Given the description of an element on the screen output the (x, y) to click on. 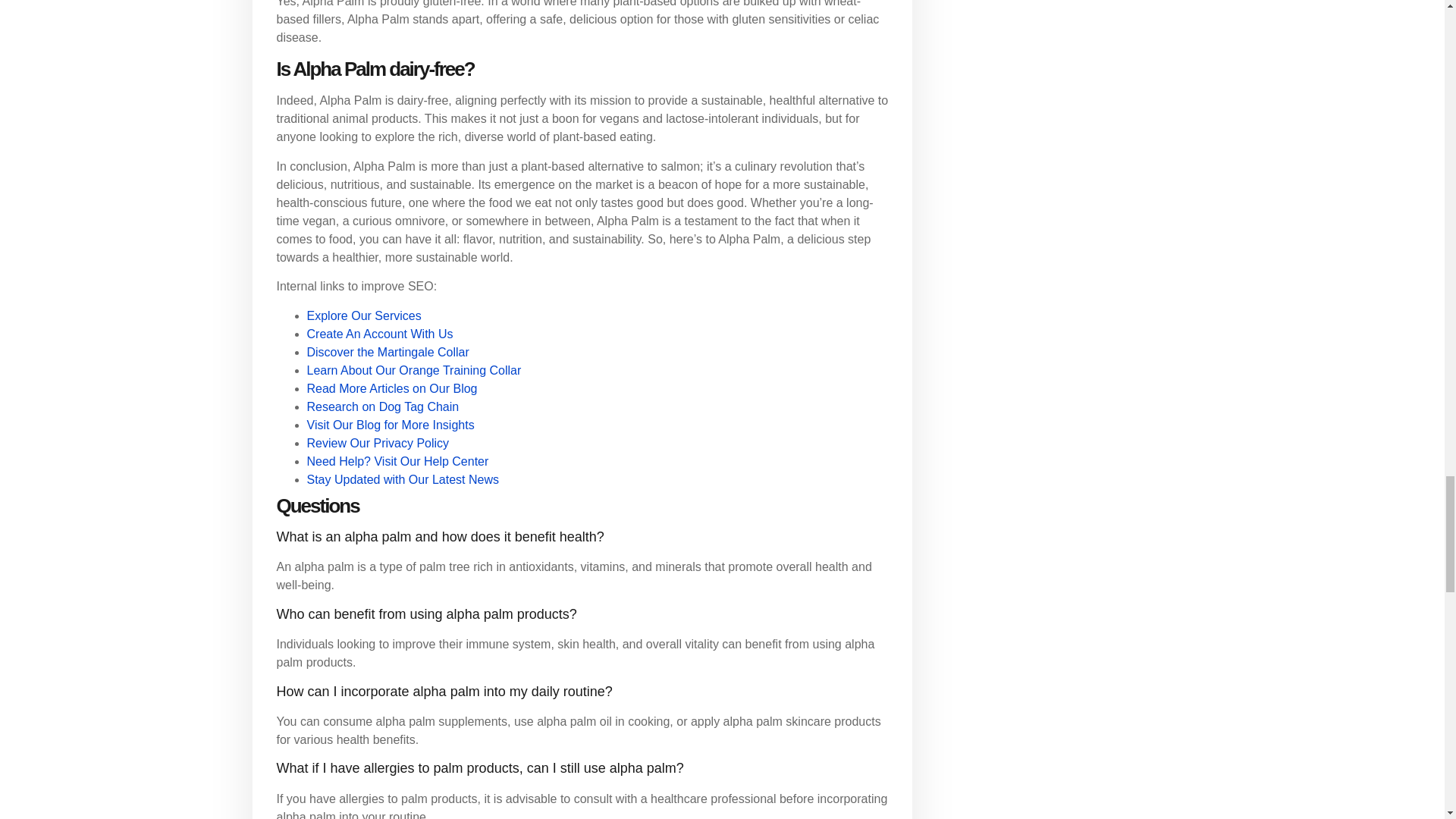
Create An Account With Us (378, 333)
Visit Our Blog for More Insights (389, 424)
Explore Our Services (362, 315)
Learn About Our Orange Training Collar (413, 369)
Read More Articles on Our Blog (391, 388)
Research on Dog Tag Chain (381, 406)
Review Our Privacy Policy (376, 442)
Discover the Martingale Collar (386, 351)
